Given the description of an element on the screen output the (x, y) to click on. 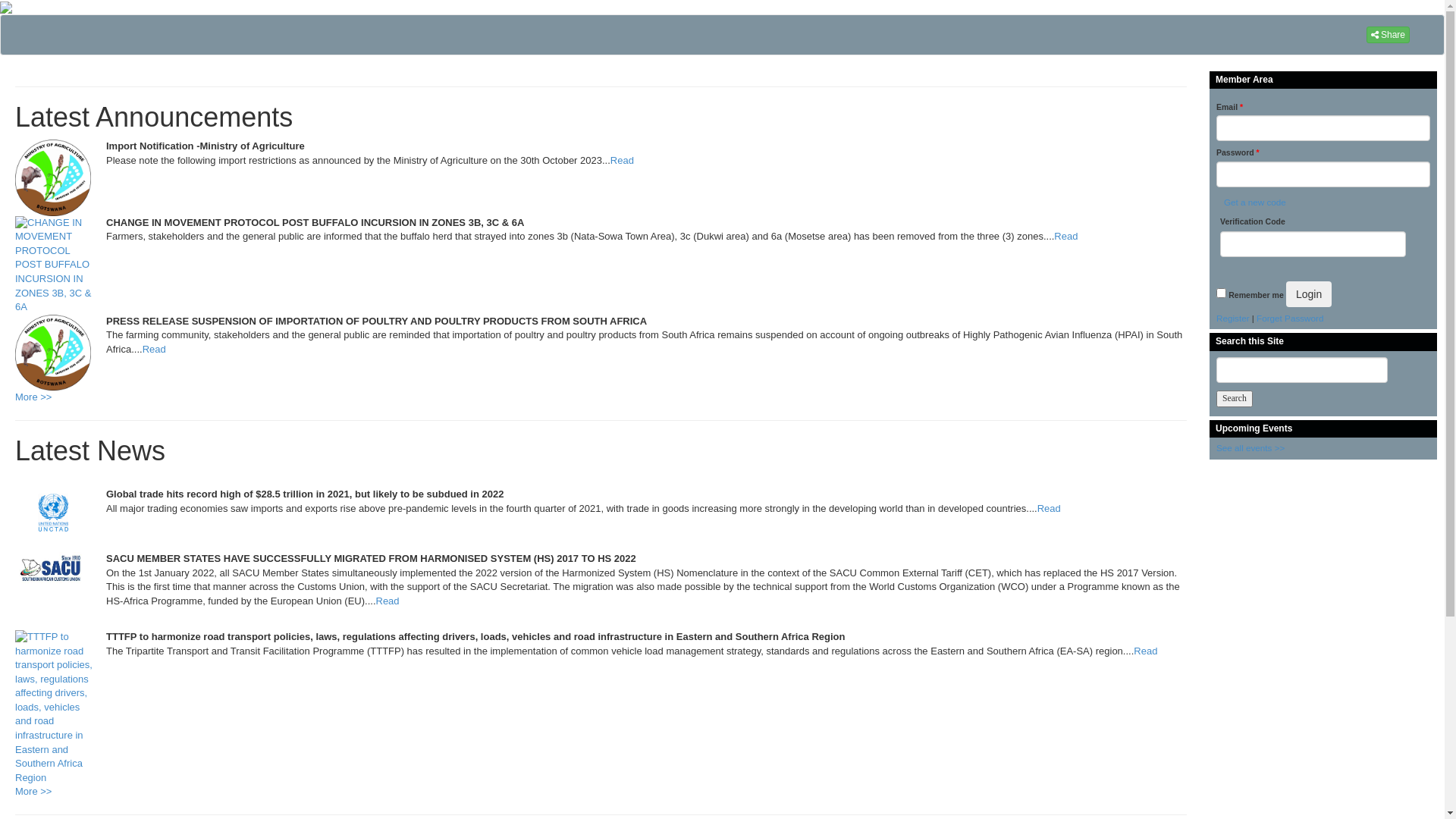
Read Element type: text (154, 348)
Get a new code Element type: text (1253, 202)
Read Element type: text (1048, 508)
Login Element type: text (1308, 294)
Register Element type: text (1232, 318)
Read Element type: text (387, 600)
See all events >> Element type: text (1250, 447)
Search Element type: text (1234, 398)
Forget Password Element type: text (1289, 318)
More >> Element type: text (33, 396)
More >> Element type: text (33, 791)
Read Element type: text (1145, 650)
Read Element type: text (621, 160)
Share Element type: text (1387, 34)
Read Element type: text (1065, 235)
